Given the description of an element on the screen output the (x, y) to click on. 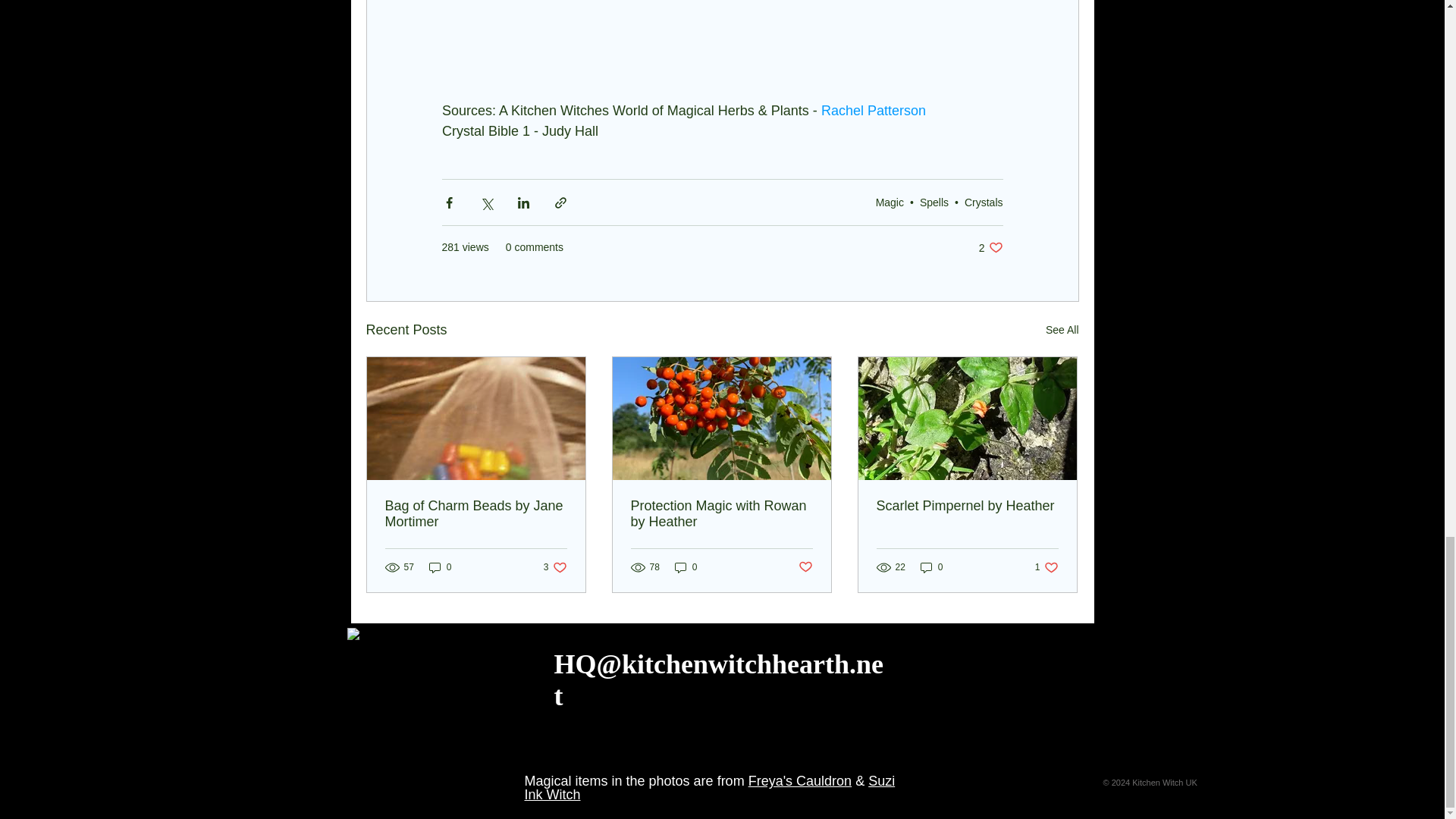
See All (1061, 330)
Spells (555, 567)
 Rachel Patterson (934, 202)
Bag of Charm Beads by Jane Mortimer (870, 109)
0 (990, 247)
Crystals (476, 513)
Magic (440, 567)
